Given the description of an element on the screen output the (x, y) to click on. 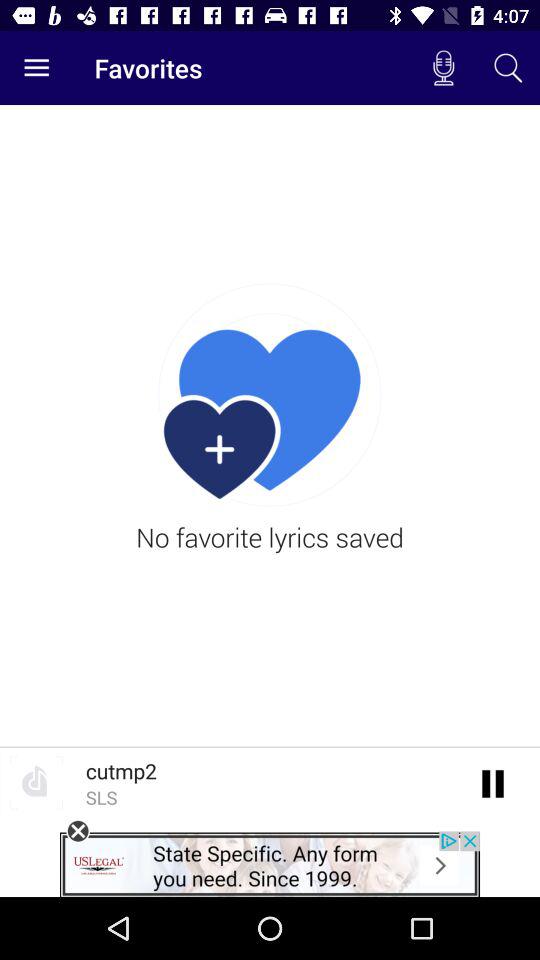
go to advert (270, 864)
